Given the description of an element on the screen output the (x, y) to click on. 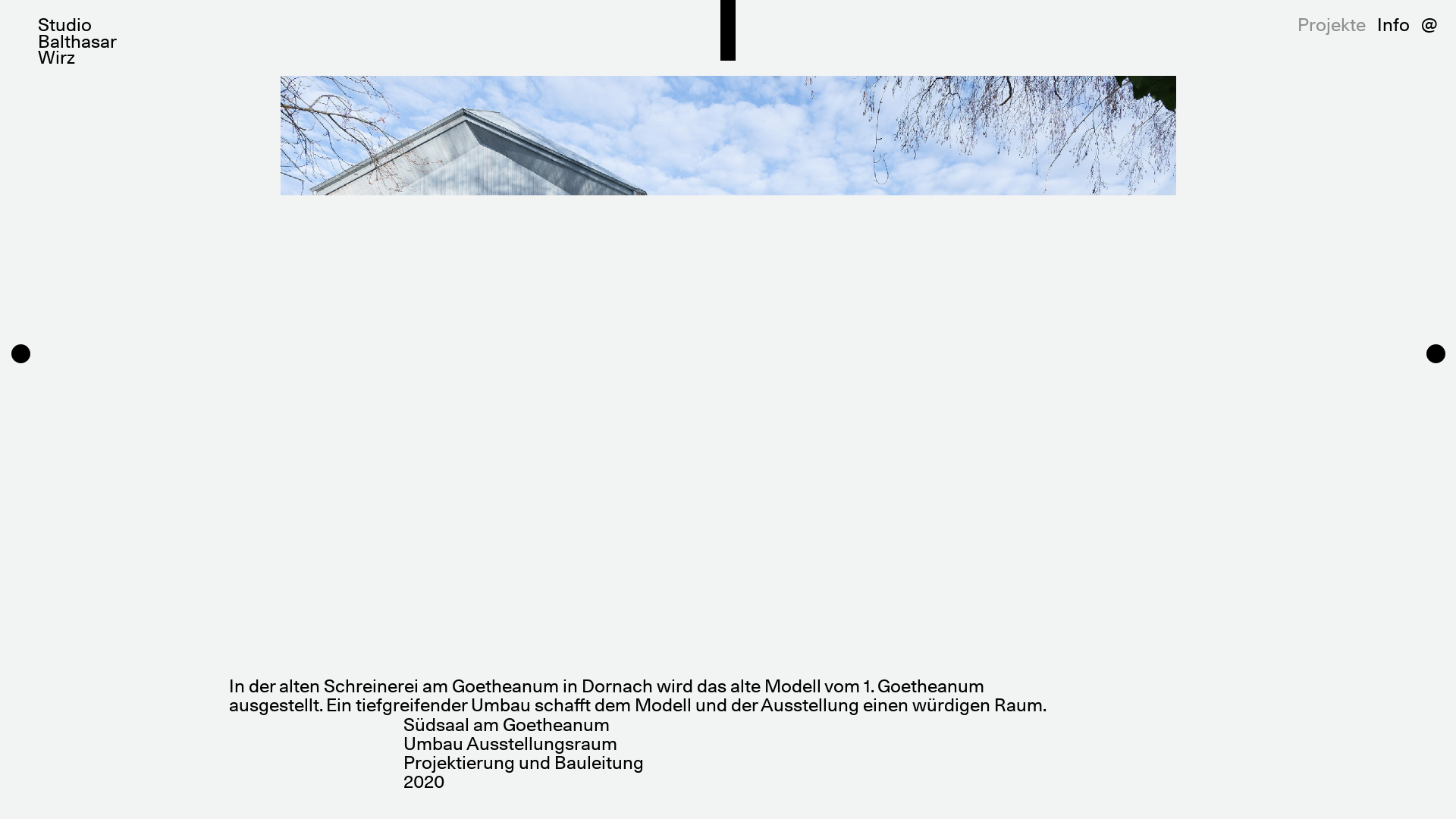
Projekte Element type: text (1337, 20)
@ Element type: text (1434, 20)
Info Element type: text (1399, 20)
Studio
Balthasar
Wirz Element type: text (82, 36)
  Element type: text (727, 30)
